Given the description of an element on the screen output the (x, y) to click on. 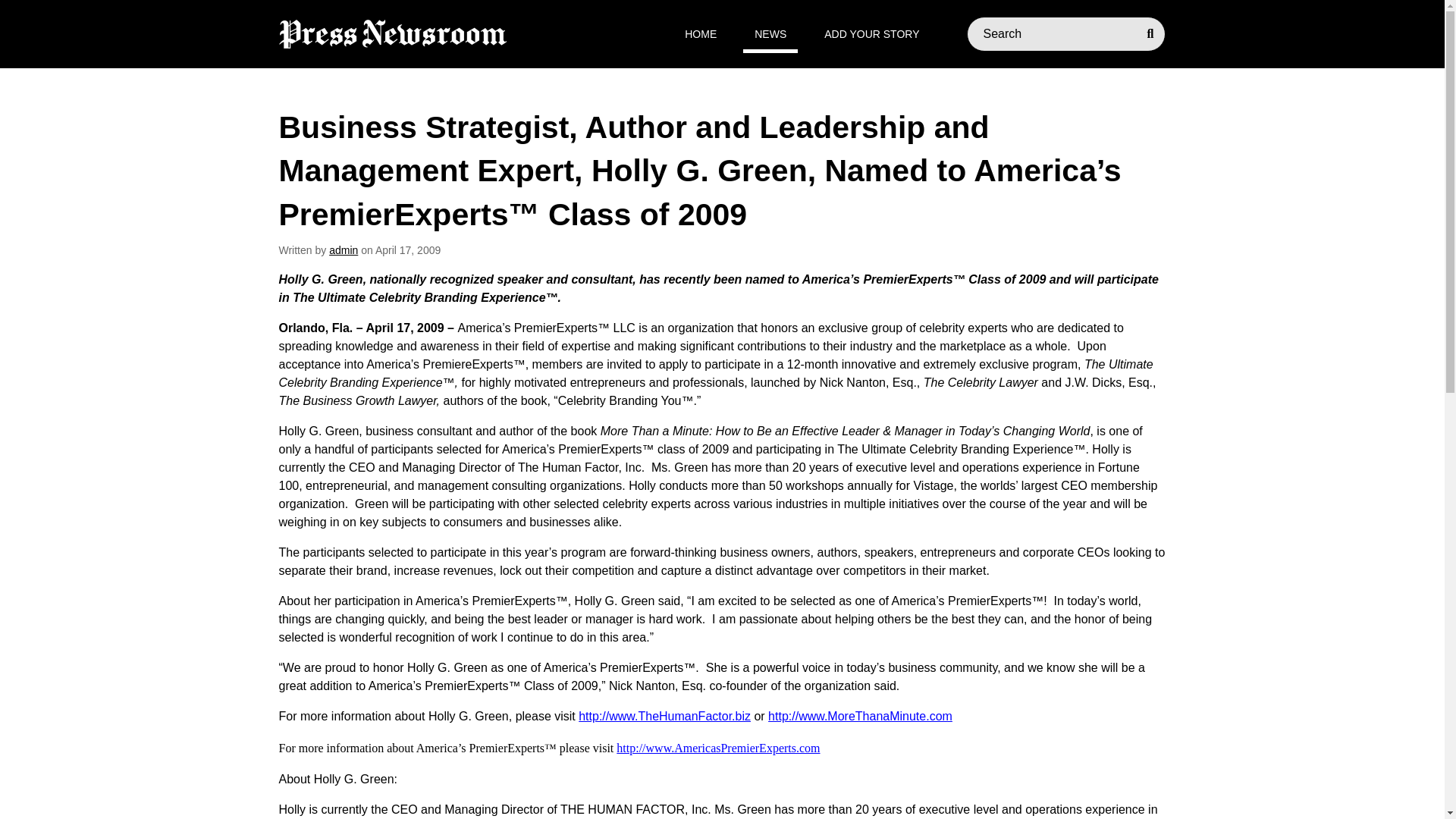
HOME (700, 34)
Posts by admin (343, 250)
ADD YOUR STORY (871, 34)
admin (343, 250)
PressNewsRoom (392, 33)
NEWS (769, 34)
